Given the description of an element on the screen output the (x, y) to click on. 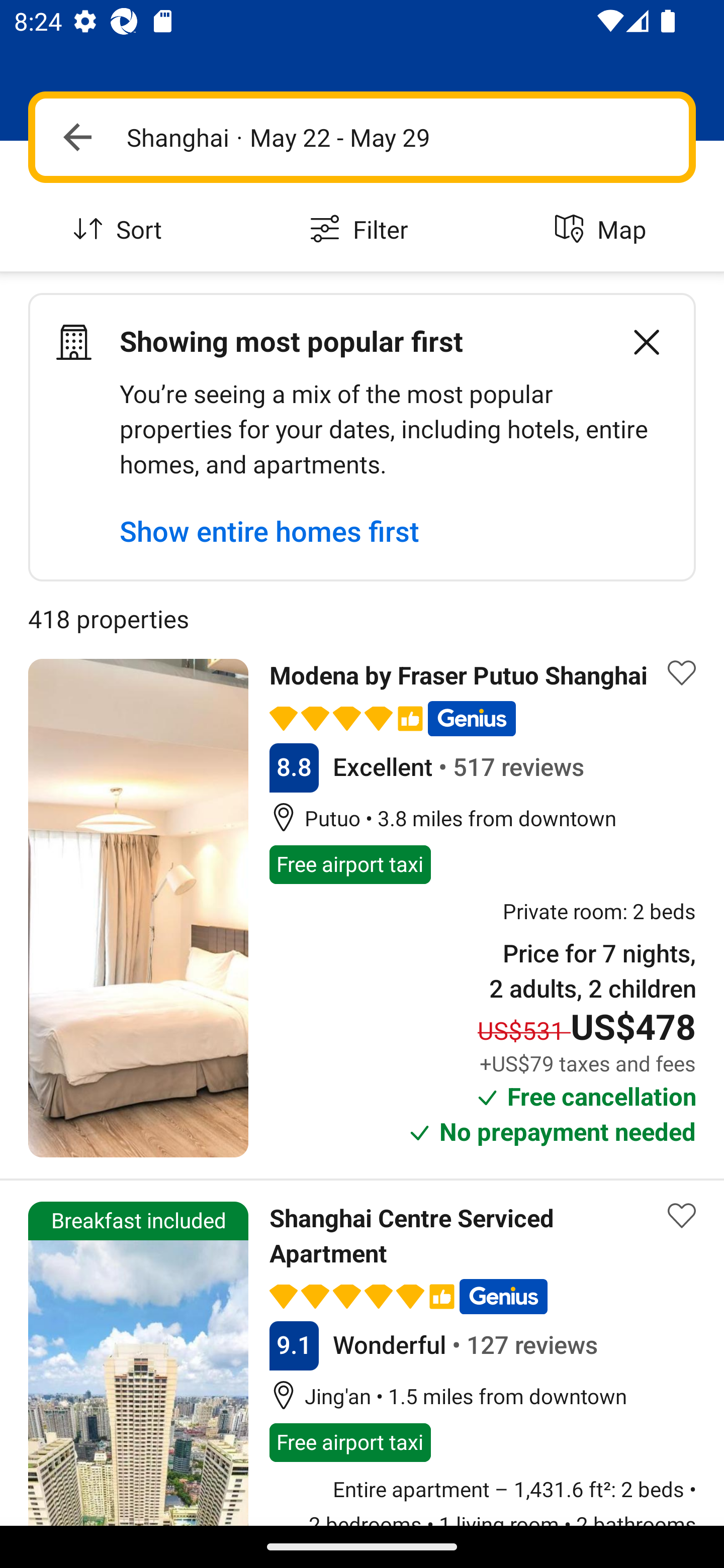
Navigate up Shanghai · May 22 - May 29 (362, 136)
Navigate up (77, 136)
Sort (120, 230)
Filter (361, 230)
Map (603, 230)
Clear (635, 341)
Show entire homes first (269, 531)
Save property to list (681, 672)
Save property to list (681, 1214)
